Given the description of an element on the screen output the (x, y) to click on. 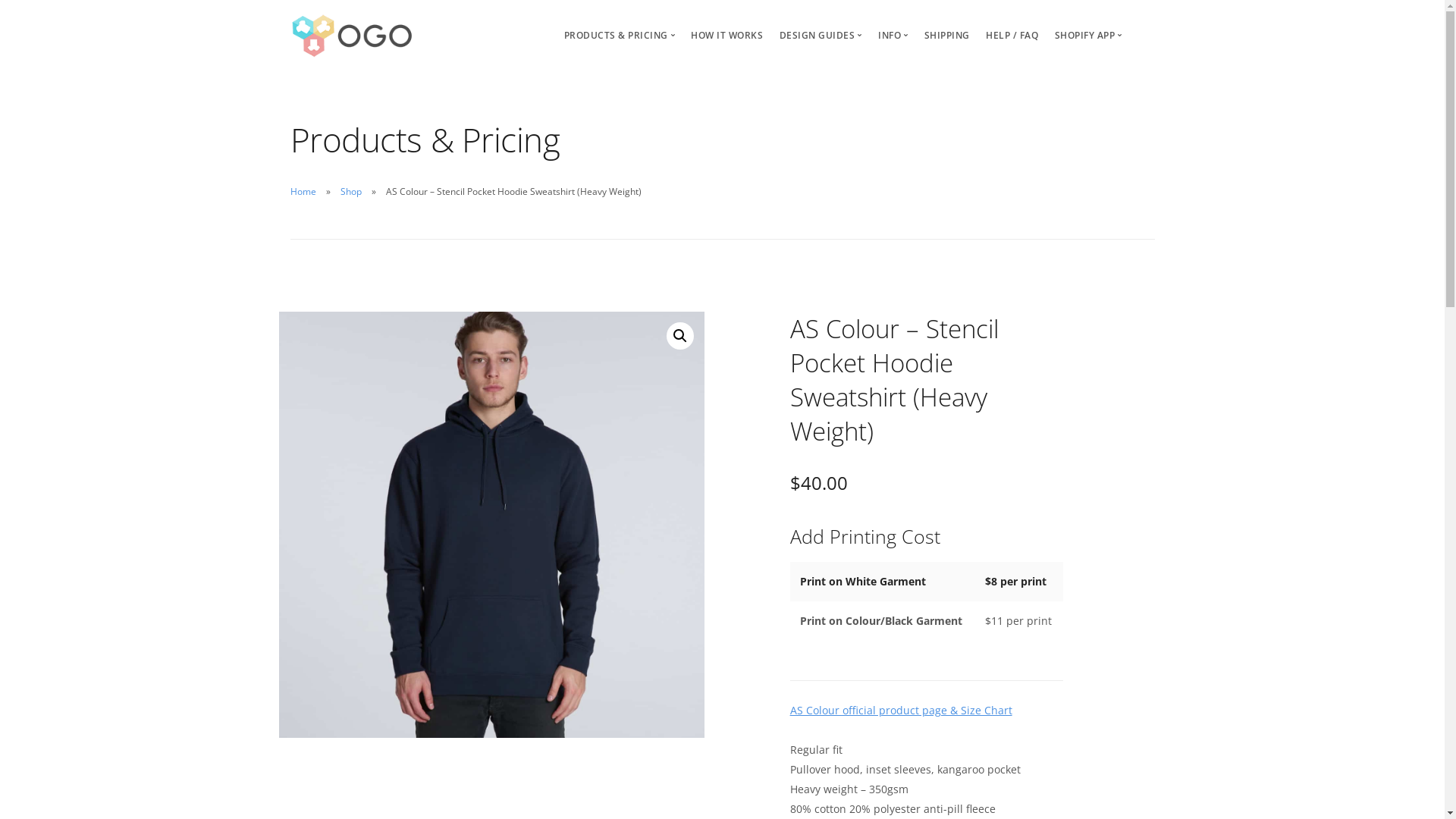
Shop Element type: text (349, 191)
5102_stencil_hood_front_1_2 Element type: hover (492, 524)
AS Colour official product page & Size Chart Element type: text (901, 709)
SHIPPING Element type: text (946, 34)
HOW IT WORKS Element type: text (726, 34)
Home Element type: text (302, 191)
HELP / FAQ Element type: text (1011, 34)
